Given the description of an element on the screen output the (x, y) to click on. 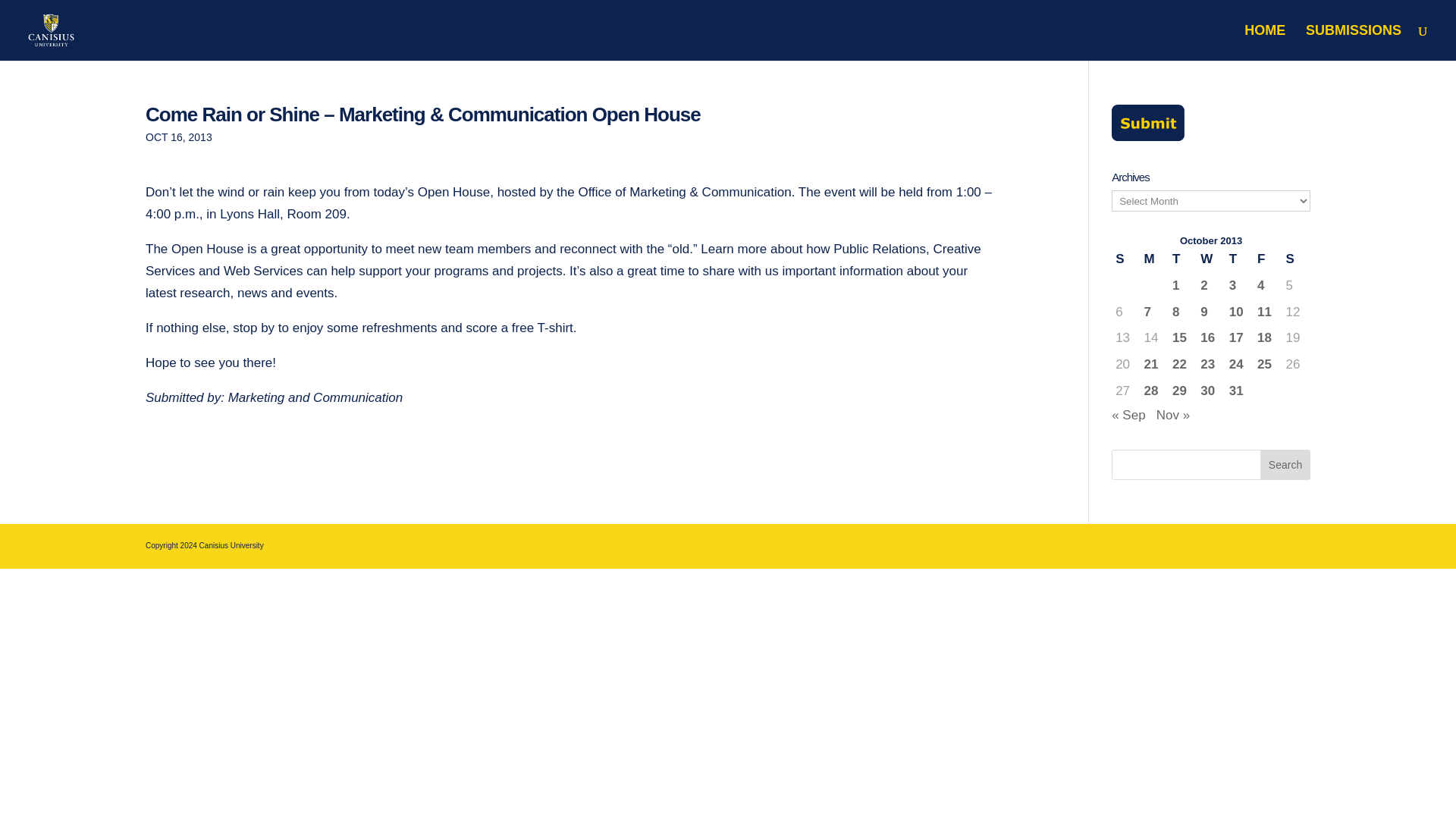
4 (1267, 286)
Friday (1267, 259)
15 (1182, 338)
29 (1182, 391)
24 (1238, 364)
3 (1238, 286)
21 (1154, 364)
Monday (1154, 259)
SUBMISSIONS (1353, 42)
22 (1182, 364)
Search (1285, 464)
18 (1267, 338)
10 (1238, 312)
9 (1210, 312)
Thursday (1239, 259)
